Given the description of an element on the screen output the (x, y) to click on. 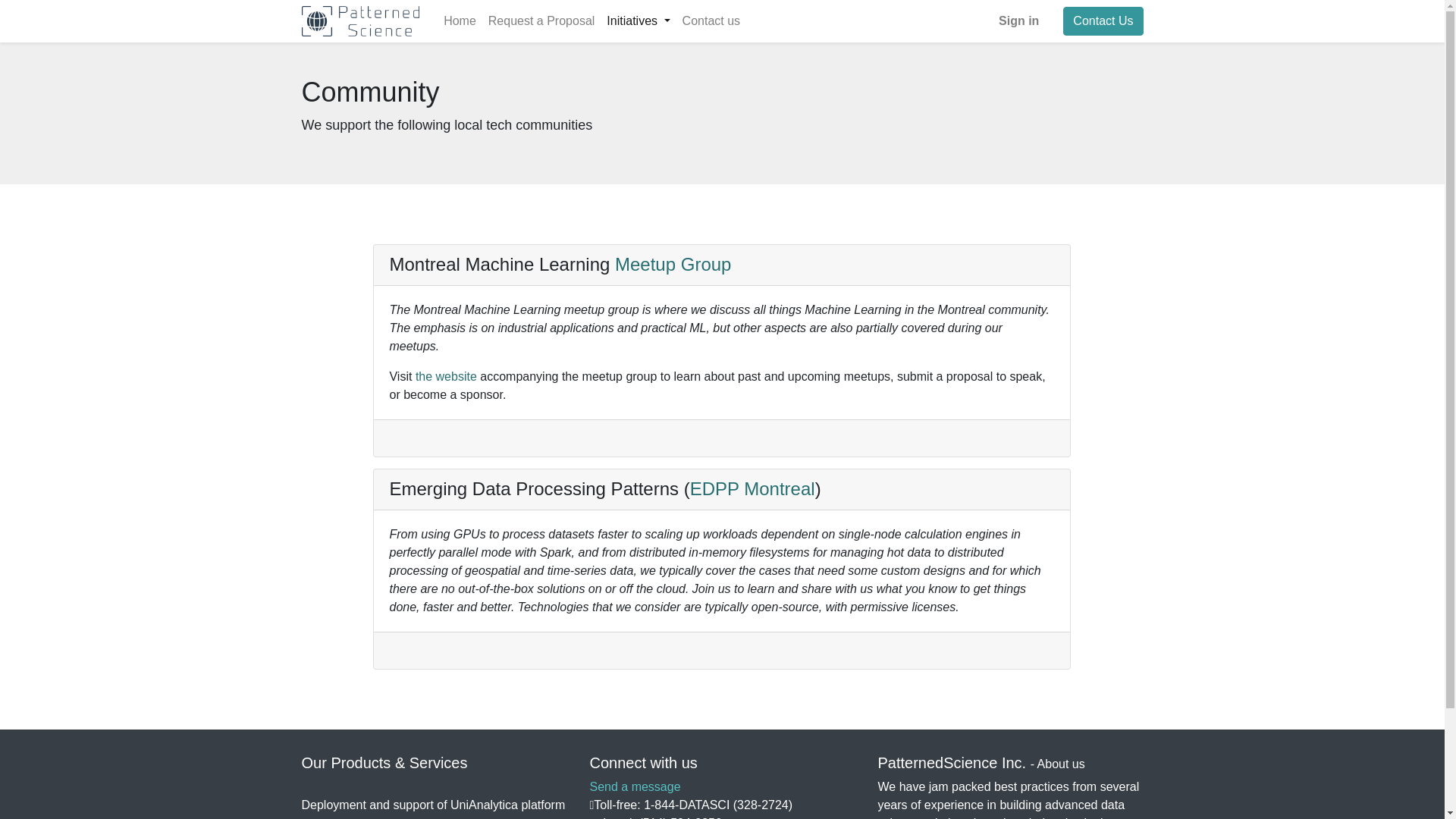
EDPP Montreal (752, 488)
the website (445, 376)
Contact us (711, 20)
Home (459, 20)
Request a Proposal (541, 20)
Initiatives (637, 20)
Contact Us (1102, 21)
Meetup Group (672, 263)
Send a message (634, 786)
Sign in (1018, 20)
